Given the description of an element on the screen output the (x, y) to click on. 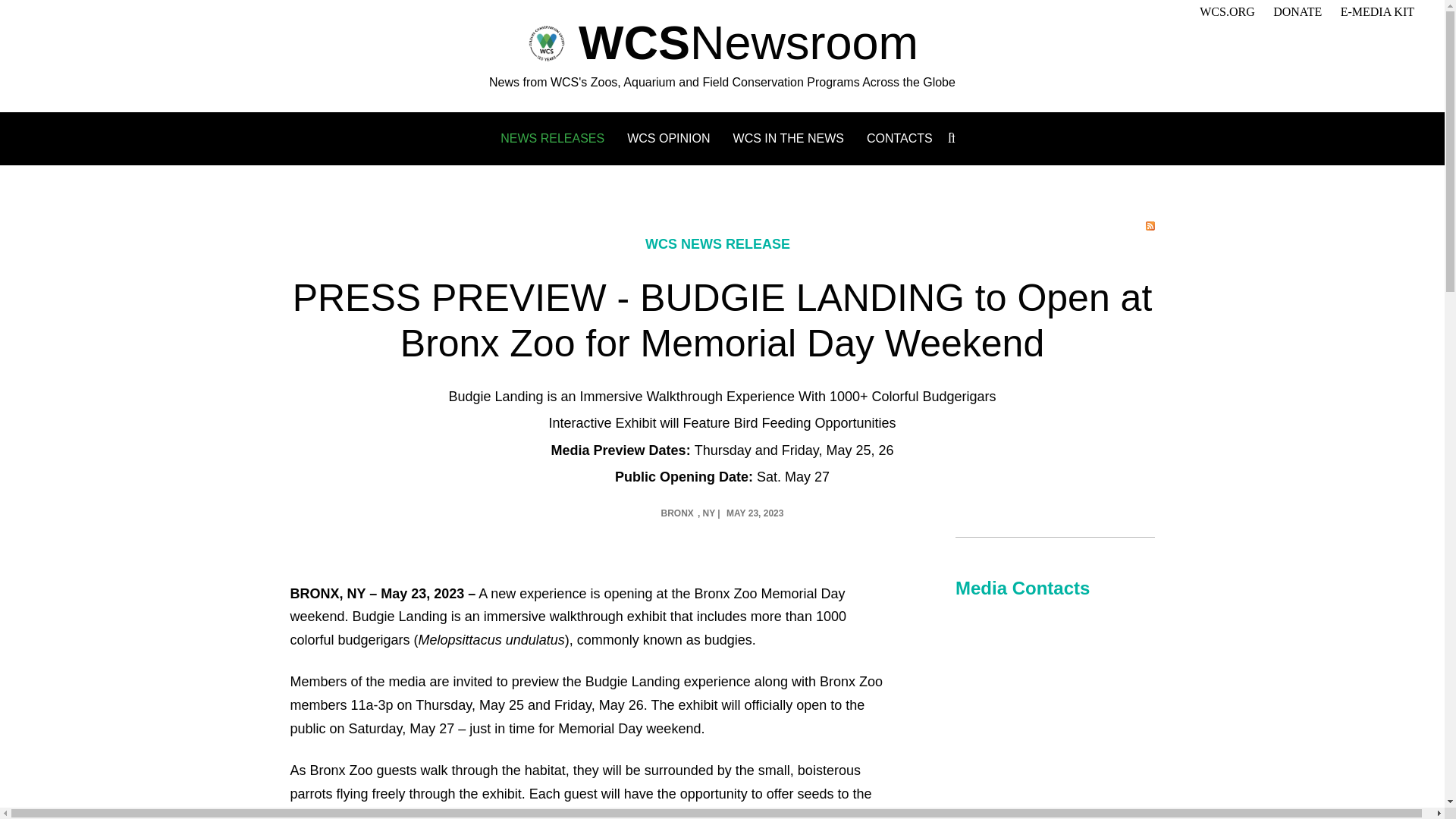
E-MEDIA KIT (1376, 11)
WCS IN THE NEWS (788, 138)
WCS OPINION (668, 138)
WCS.ORG (1226, 11)
DONATE (1297, 11)
WCS NEWS RELEASE (717, 243)
NEWS RELEASES (552, 138)
CONTACTS (899, 138)
